Given the description of an element on the screen output the (x, y) to click on. 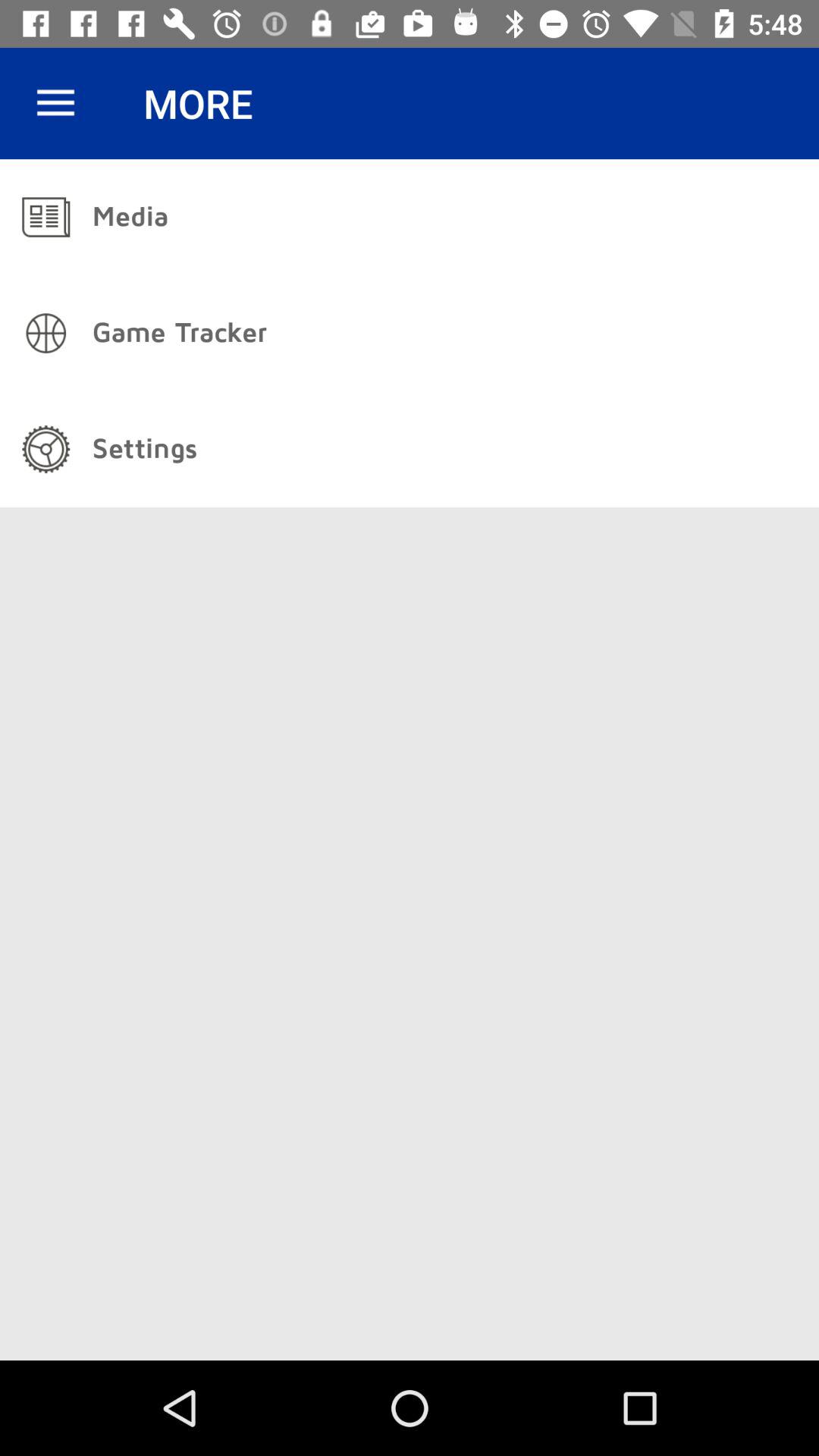
tap icon next to the more item (55, 103)
